Given the description of an element on the screen output the (x, y) to click on. 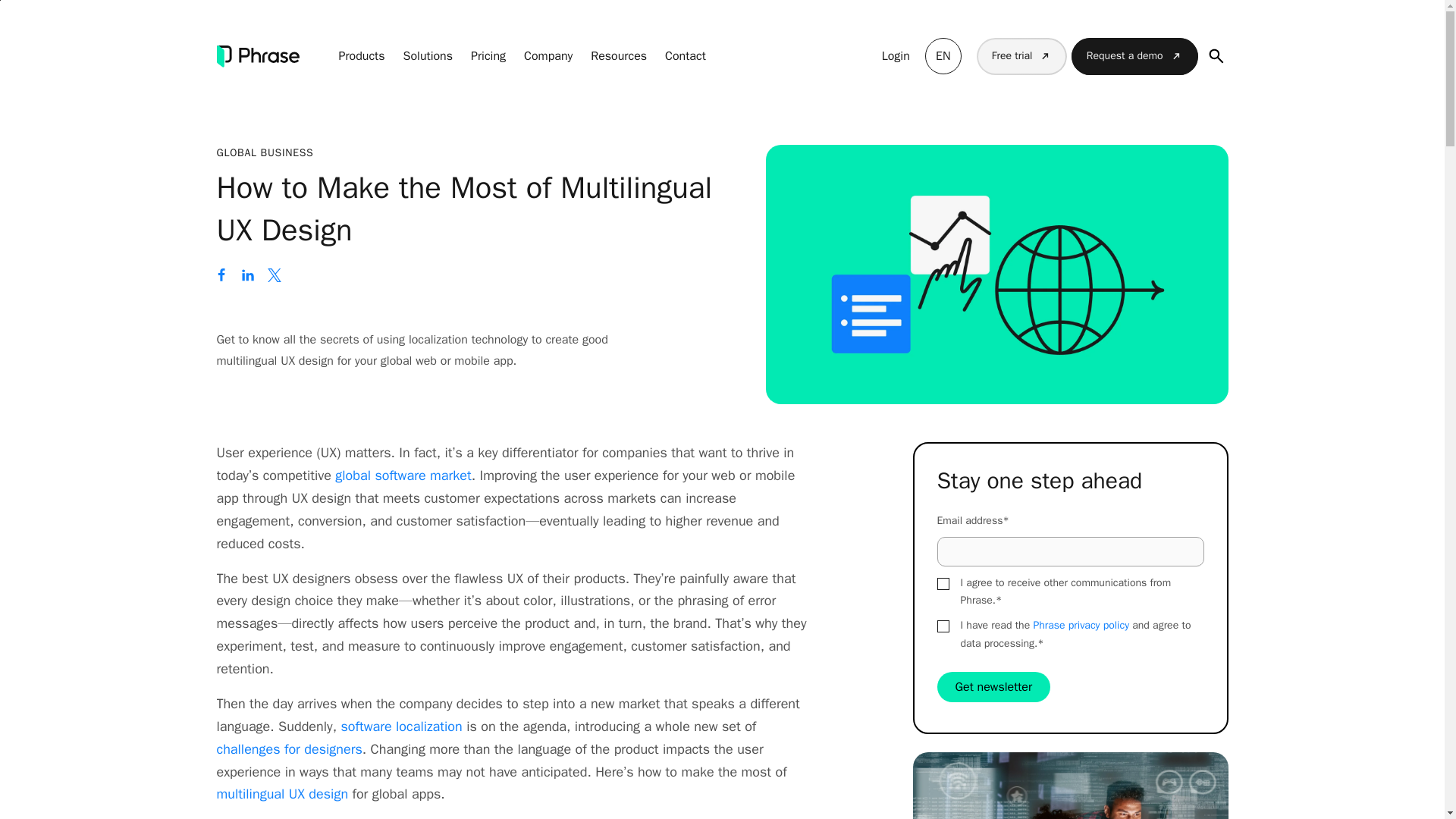
true (943, 583)
Get newsletter (994, 686)
true (943, 625)
